Given the description of an element on the screen output the (x, y) to click on. 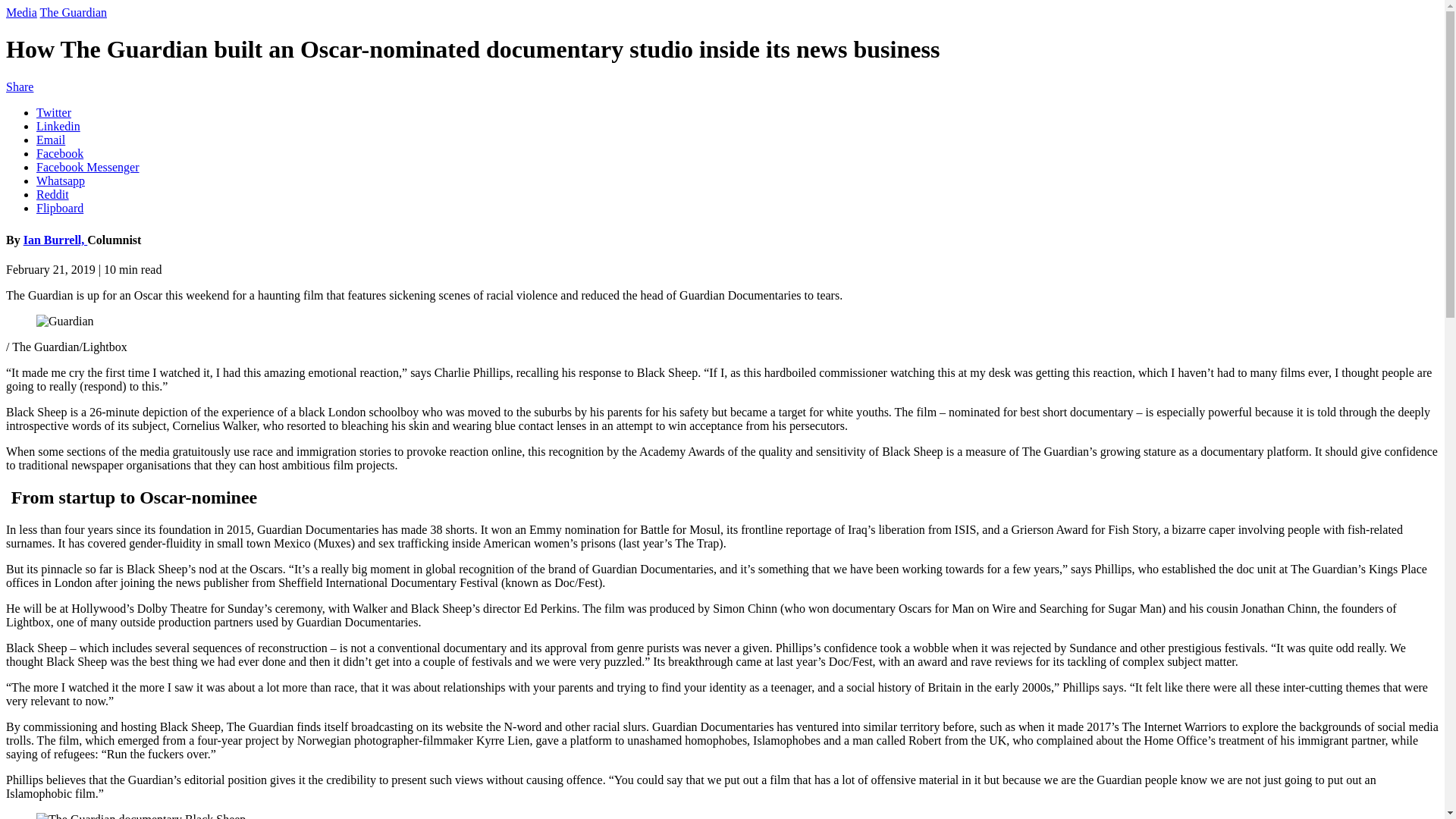
Email (50, 139)
Whatsapp (60, 180)
Media (21, 11)
The Guardian documentary Black Sheep (141, 816)
Linkedin (58, 125)
Facebook Messenger (87, 166)
Guardian (65, 321)
Ian Burrell, (55, 239)
Facebook (59, 153)
Flipboard (59, 207)
